Given the description of an element on the screen output the (x, y) to click on. 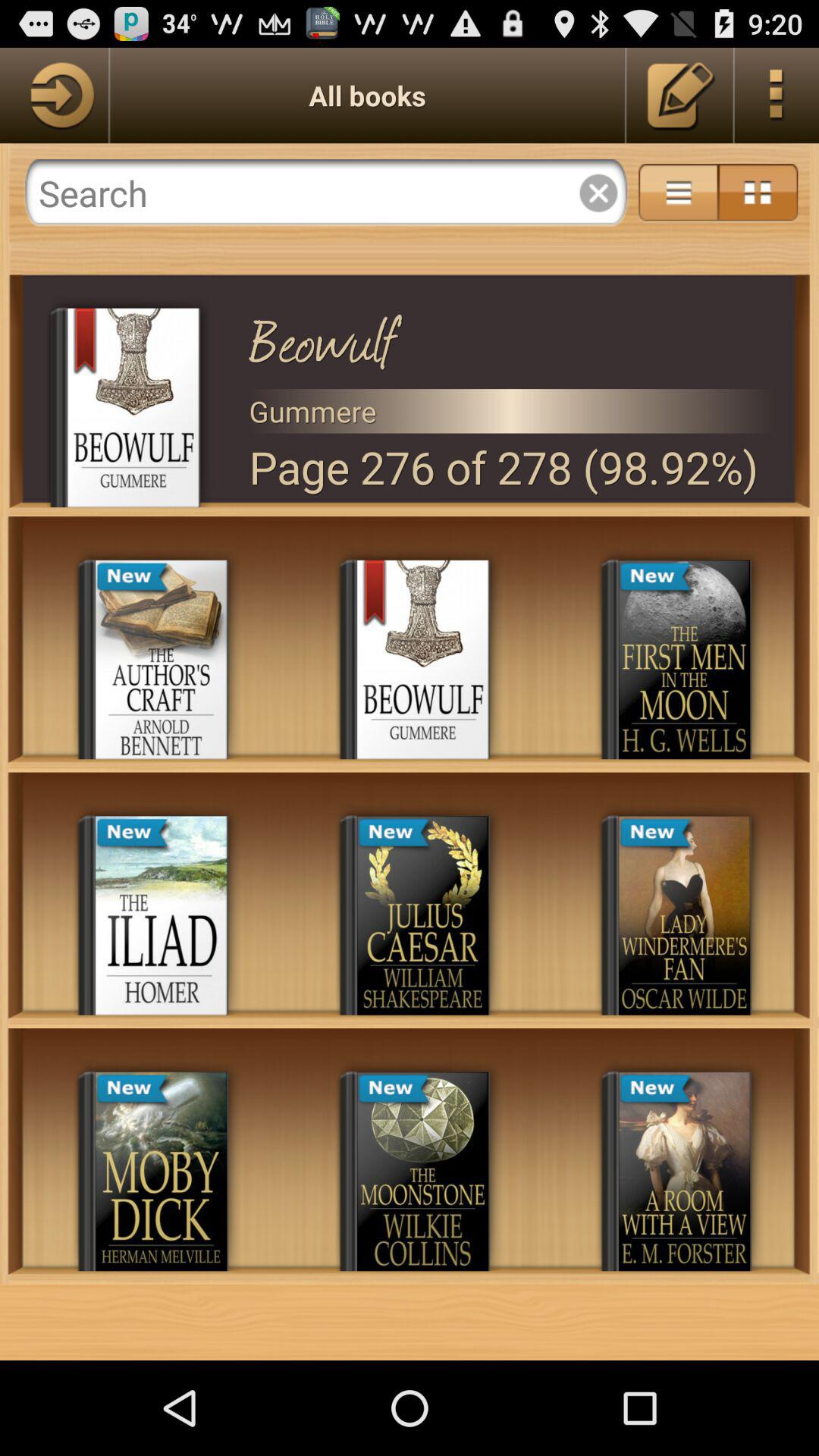
go to saved library (680, 95)
